Given the description of an element on the screen output the (x, y) to click on. 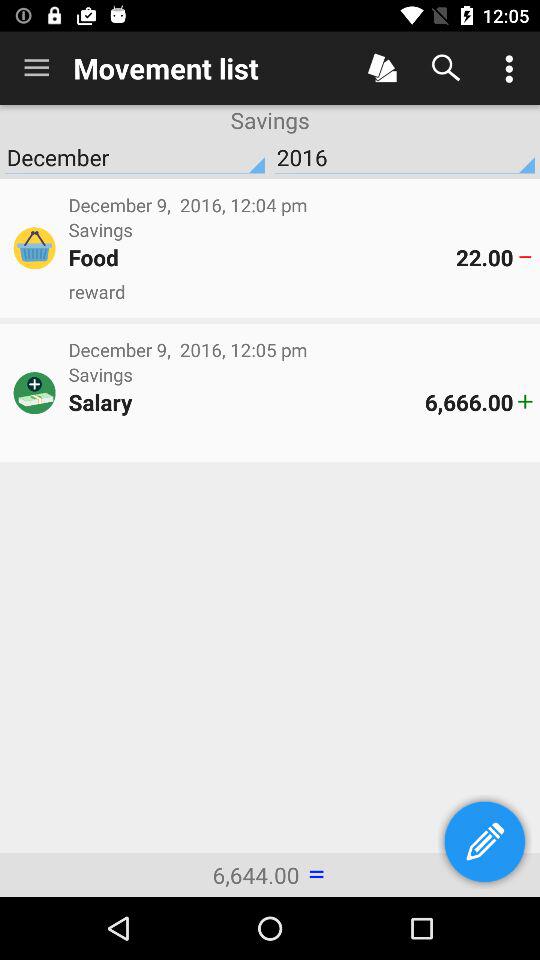
press the icon to the left of the 22.00 item (262, 257)
